Given the description of an element on the screen output the (x, y) to click on. 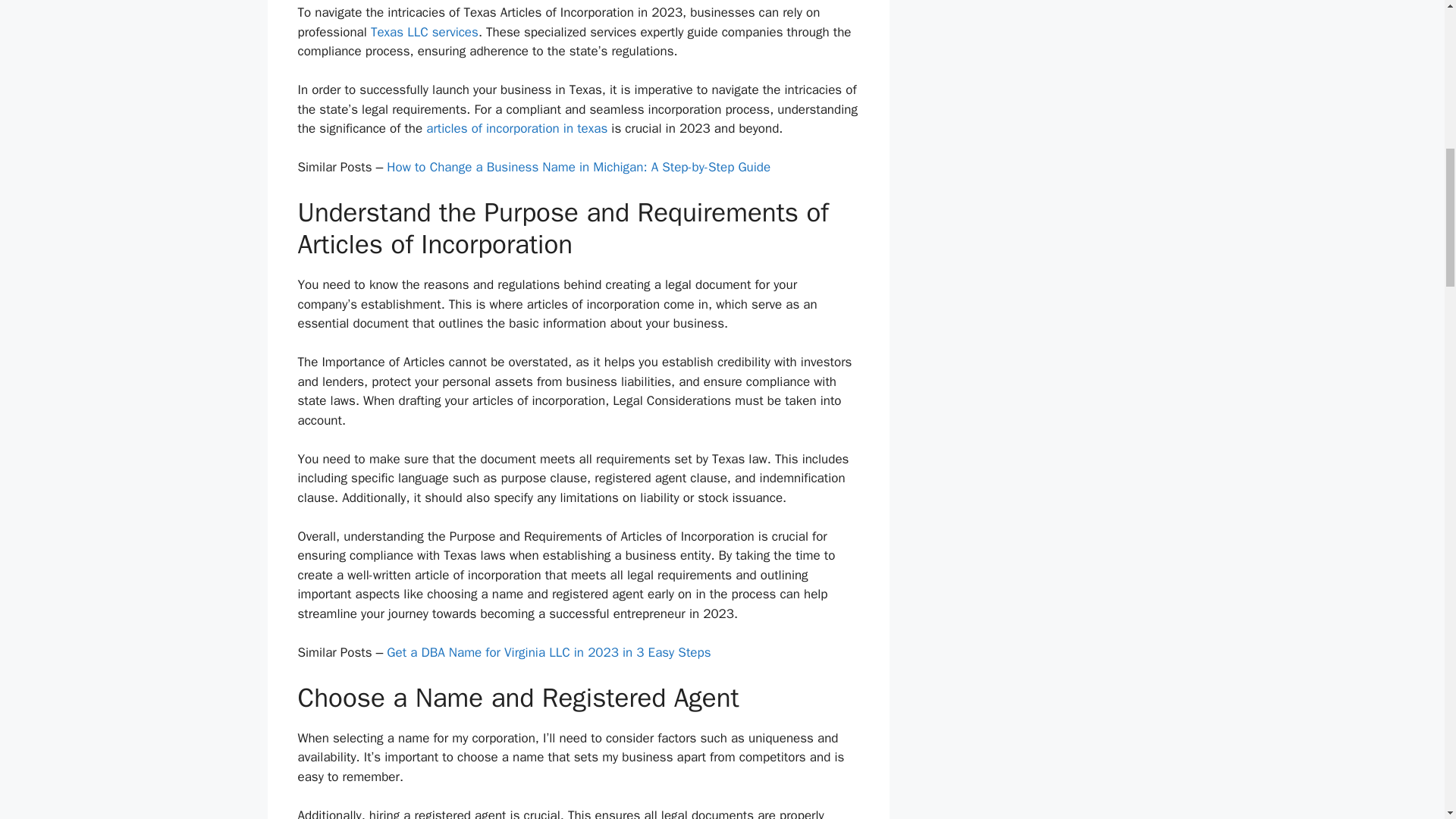
Get a DBA Name for Virginia LLC in 2023 in 3 Easy Steps (548, 652)
articles of incorporation in texas (516, 128)
Texas LLC services (425, 32)
